Given the description of an element on the screen output the (x, y) to click on. 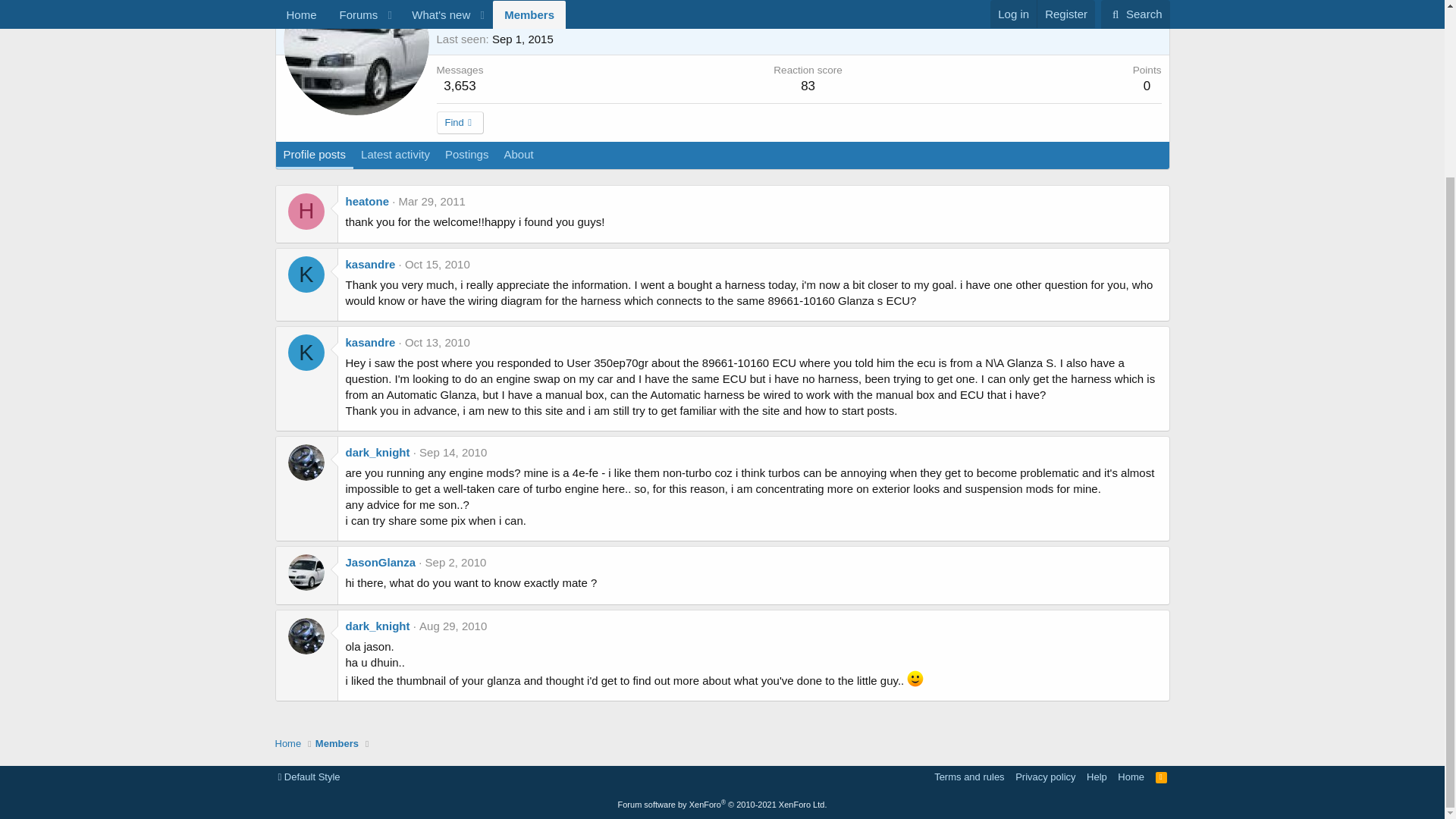
Oct 13, 2010 at 12:35 PM (437, 341)
Aug 29, 2010 at 5:49 PM (452, 625)
Sep 1, 2015 at 6:39 PM (522, 38)
Sep 2, 2010 at 8:43 PM (455, 562)
Oct 15, 2010 at 3:29 AM (437, 264)
Profile posts Latest activity Postings About (408, 172)
Sep 14, 2010 at 6:44 AM (452, 451)
Gozo, Malta (549, 4)
Aug 22, 2007 at 8:55 PM (509, 20)
3,653 (460, 85)
